Given the description of an element on the screen output the (x, y) to click on. 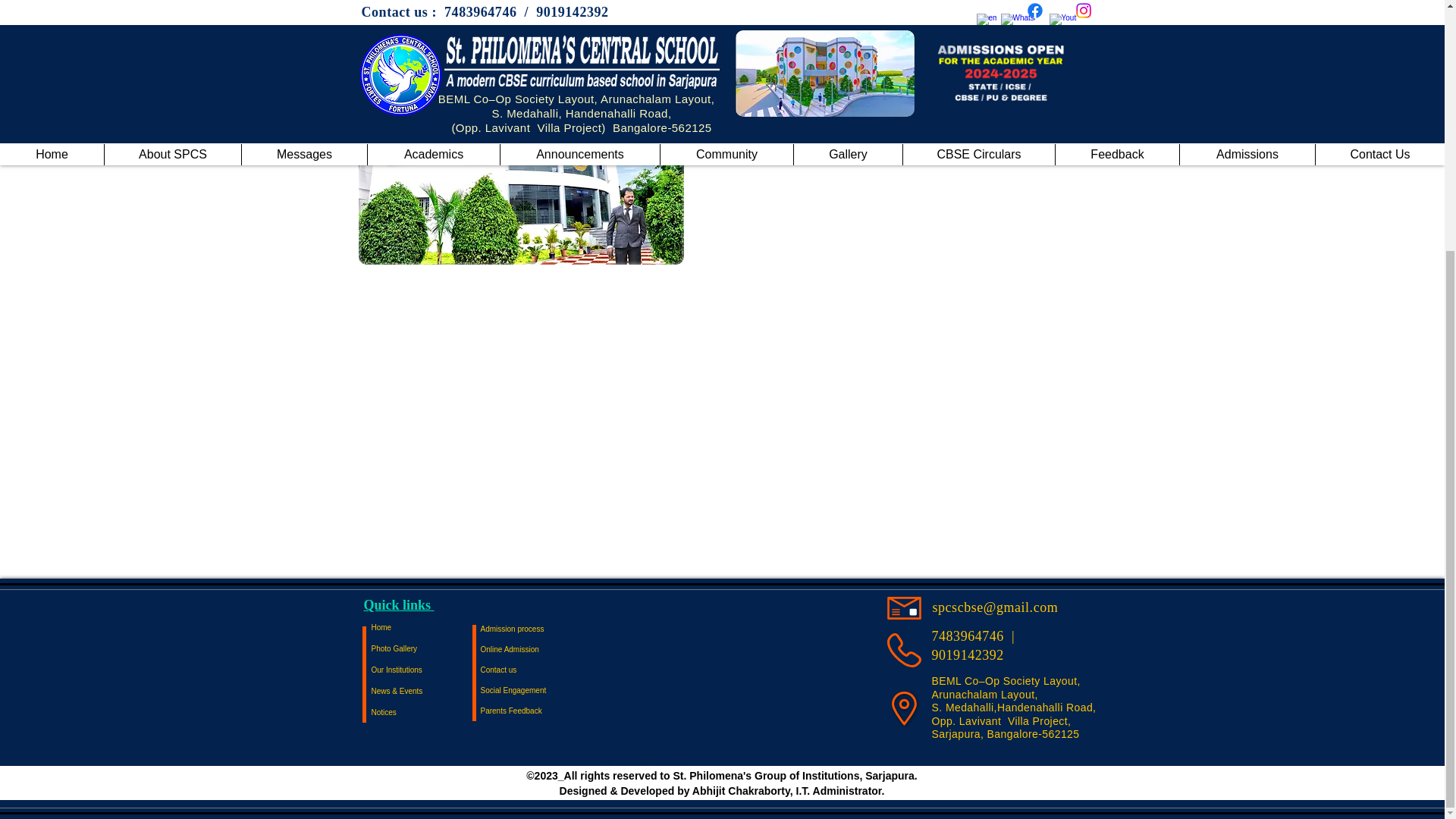
Contact us (534, 670)
Notices (425, 712)
Home (425, 627)
Our Institutions (425, 670)
Online Admission (534, 649)
Admission process (534, 629)
Photo Gallery (425, 649)
